Given the description of an element on the screen output the (x, y) to click on. 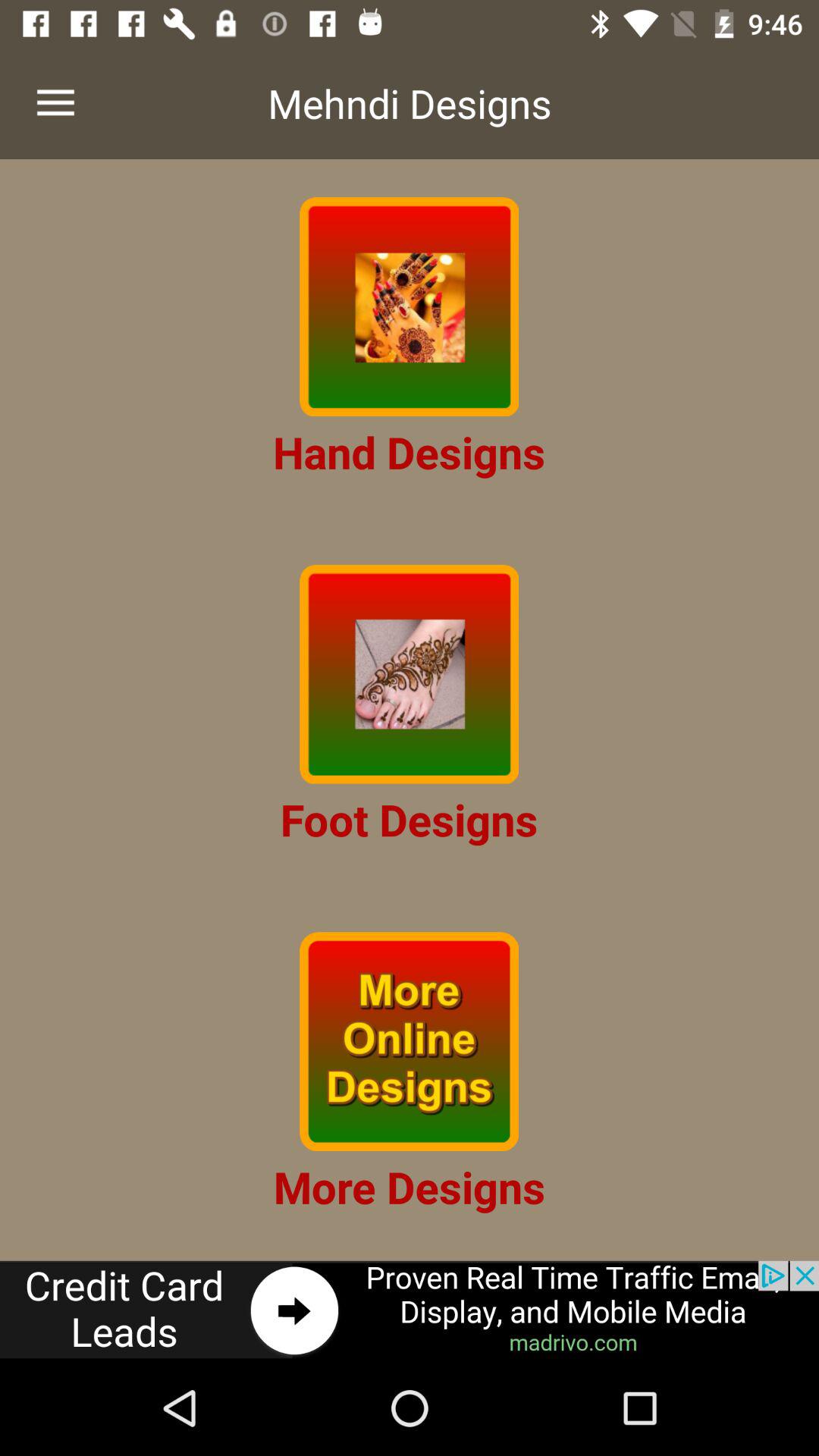
open advertisement (409, 1310)
